Given the description of an element on the screen output the (x, y) to click on. 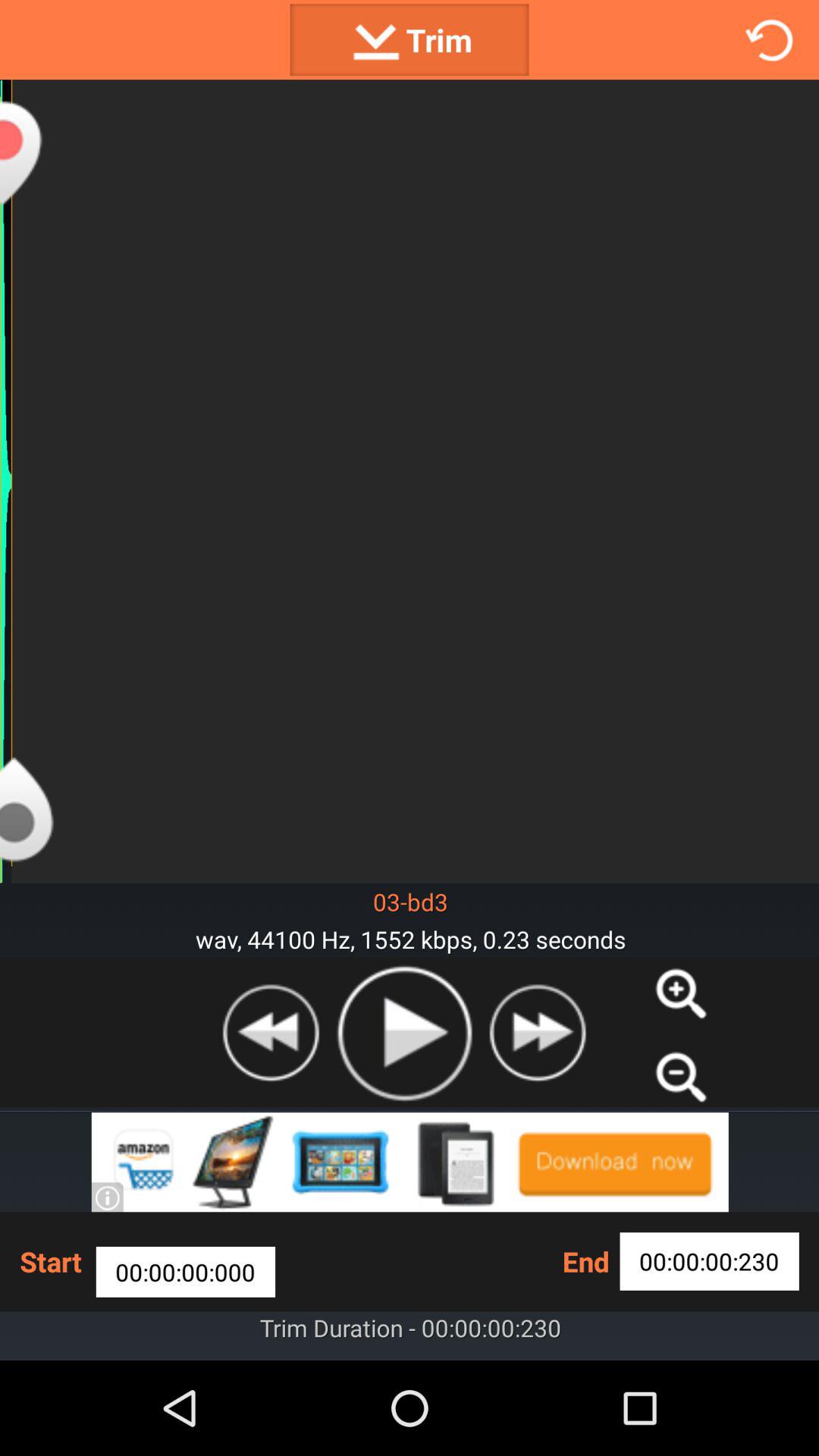
refresh screen (768, 39)
